Given the description of an element on the screen output the (x, y) to click on. 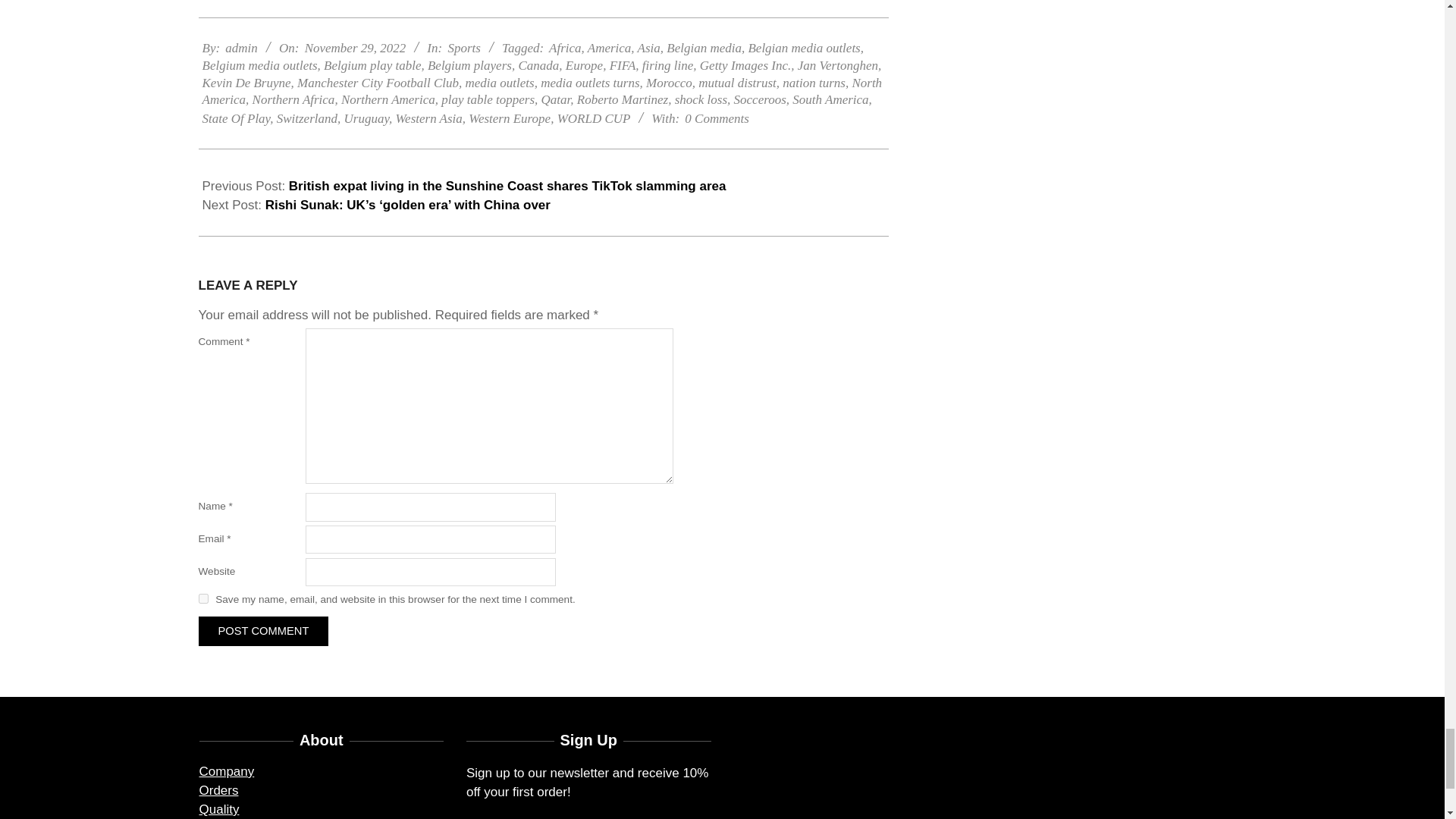
Belgian media (703, 47)
Jan Vertonghen (837, 65)
Canada (538, 65)
Post Comment (263, 630)
Africa (564, 47)
Belgium media outlets (259, 65)
FIFA (623, 65)
Belgian media outlets (804, 47)
firing line (668, 65)
media outlets (499, 83)
